Given the description of an element on the screen output the (x, y) to click on. 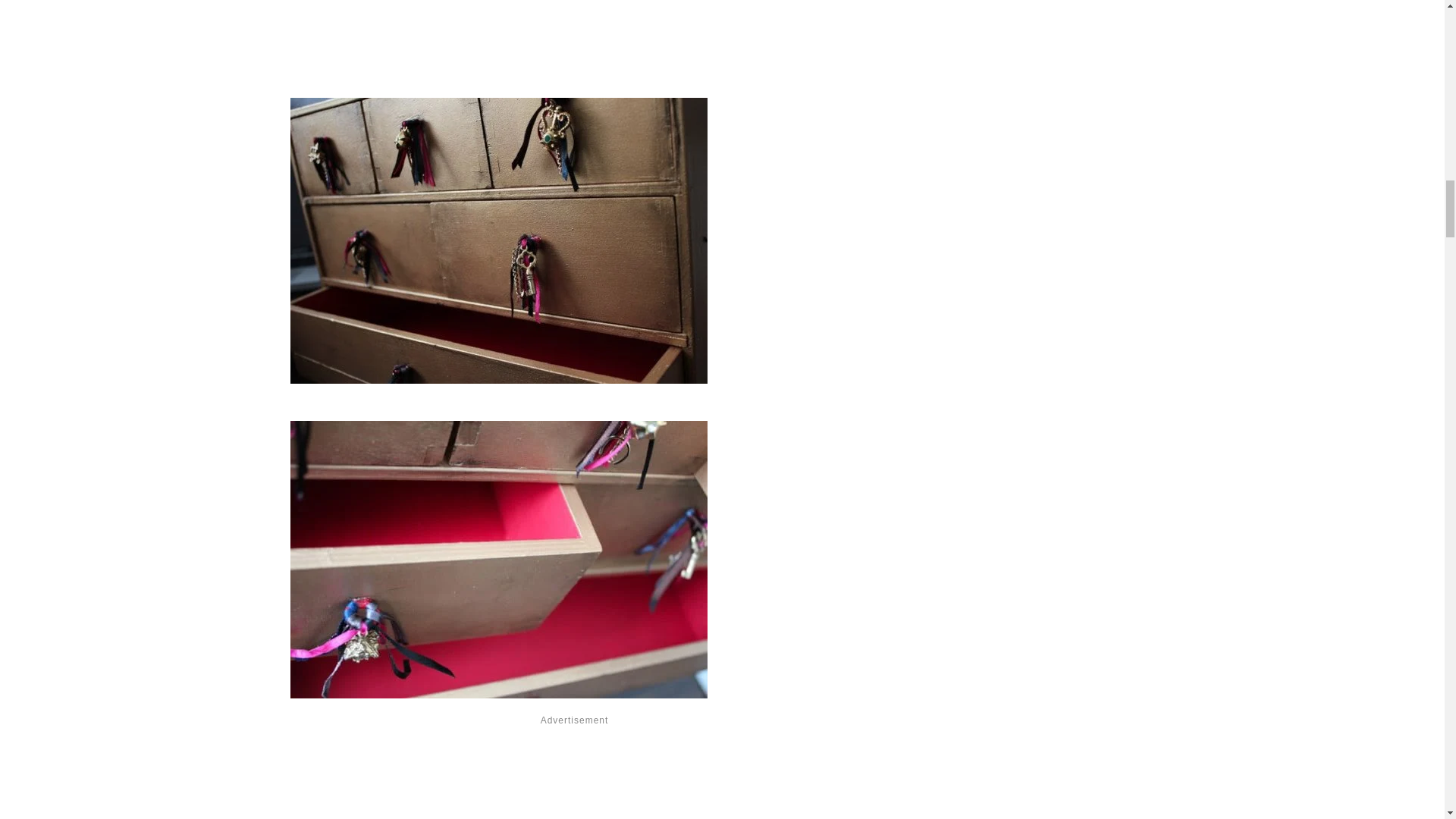
Pimpin' the MOPPE drawers 5 (497, 559)
Pimpin' the MOPPE drawers 4 (497, 240)
Pimpin' the MOPPE drawers 5 (497, 692)
Pimpin' the MOPPE drawers 4 (497, 393)
